Given the description of an element on the screen output the (x, y) to click on. 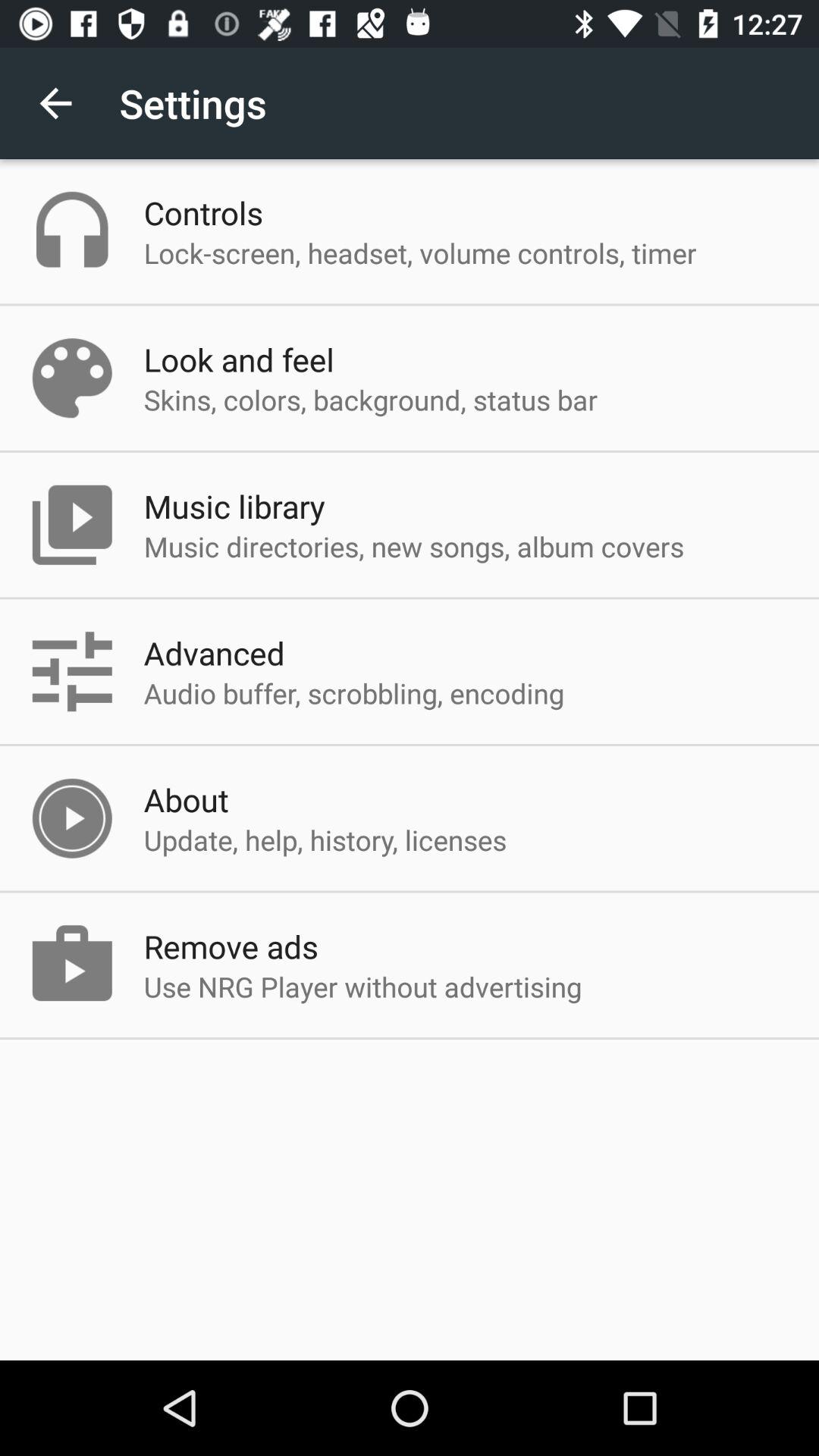
click app below music library item (413, 546)
